Given the description of an element on the screen output the (x, y) to click on. 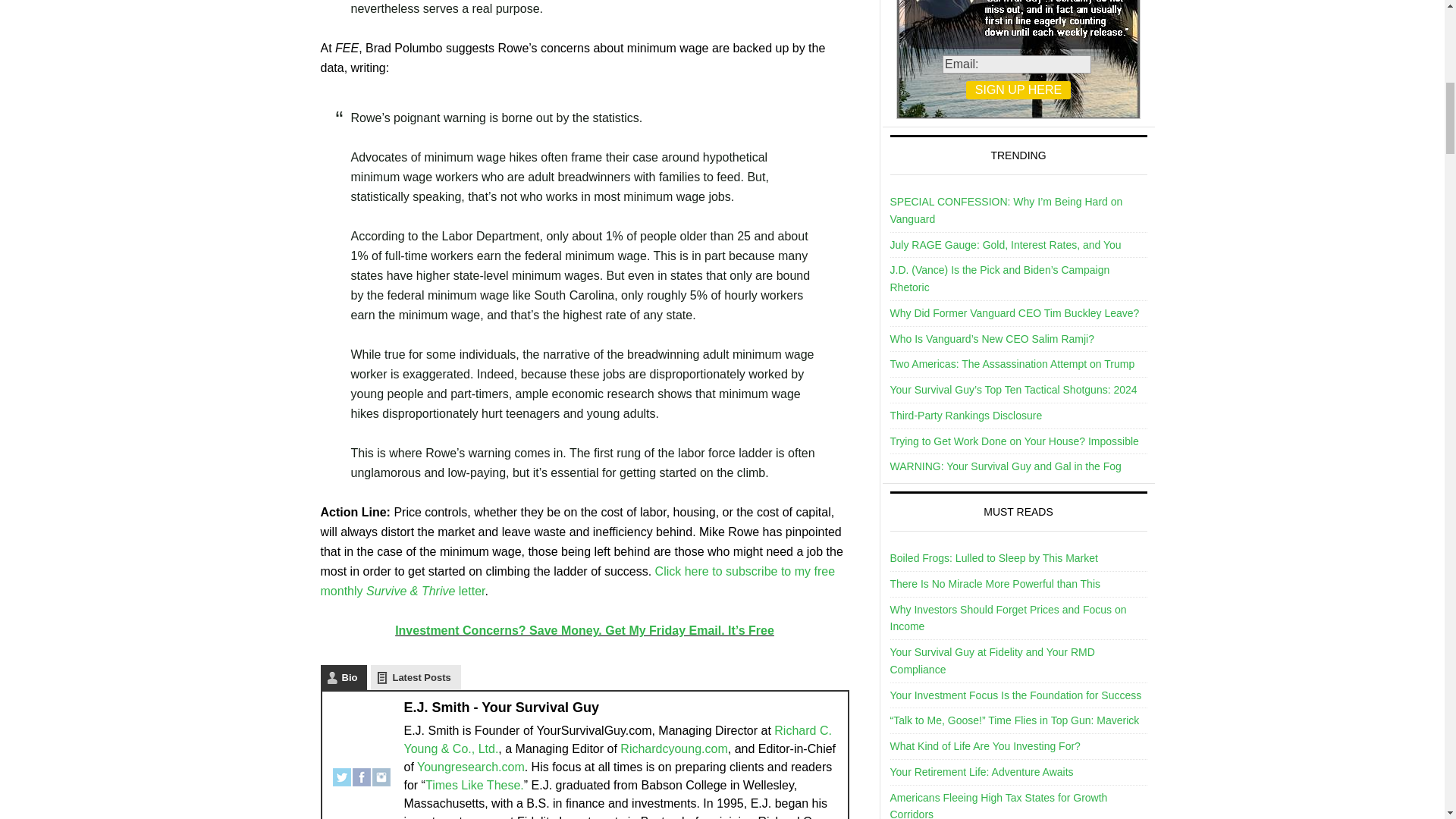
Facebook (360, 771)
Sign Up Here (1018, 90)
Twitter (340, 771)
Email: (1016, 64)
Instagram (380, 771)
